Given the description of an element on the screen output the (x, y) to click on. 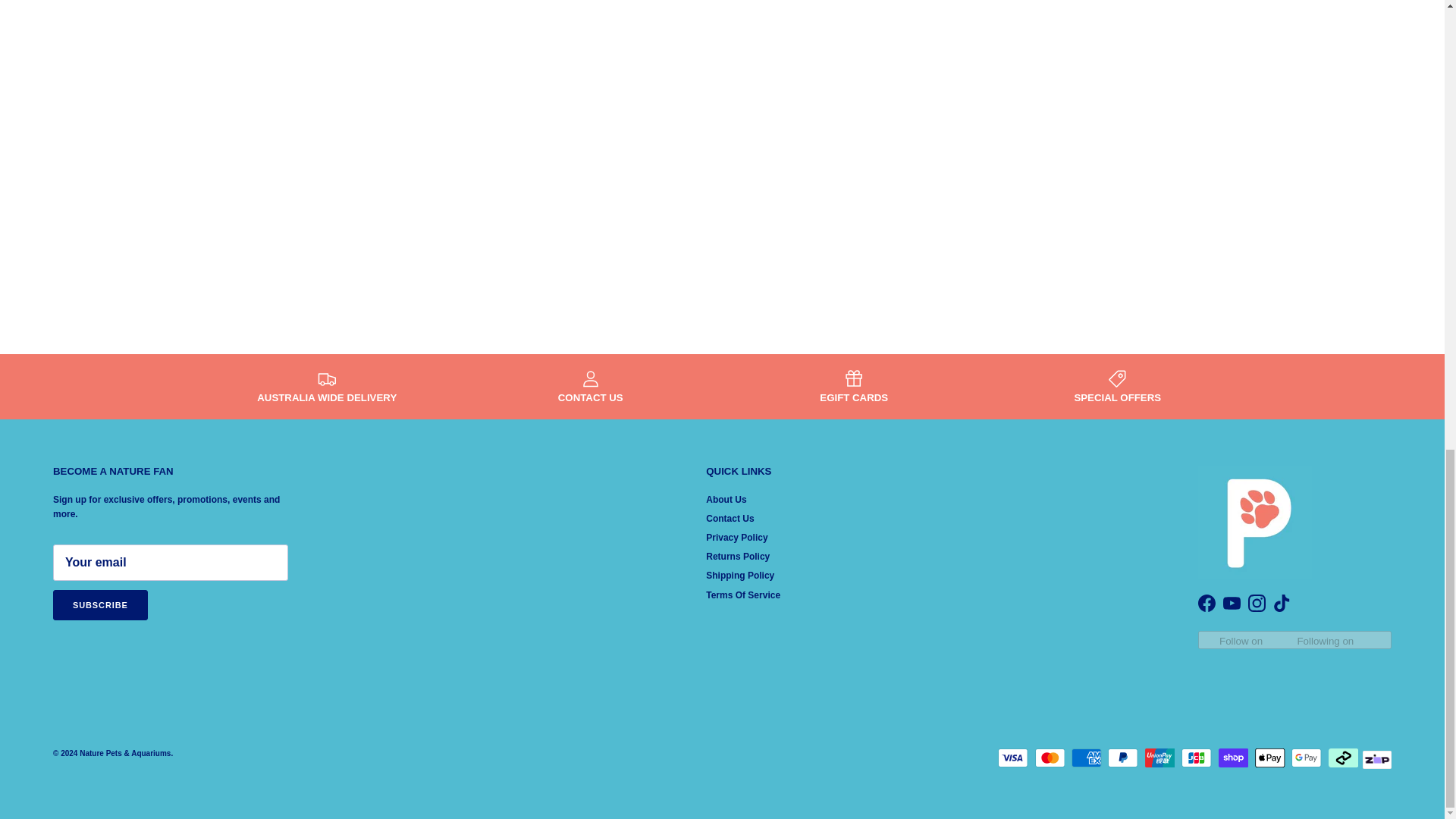
American Express (1086, 757)
Visa (1012, 757)
Mastercard (1050, 757)
